Given the description of an element on the screen output the (x, y) to click on. 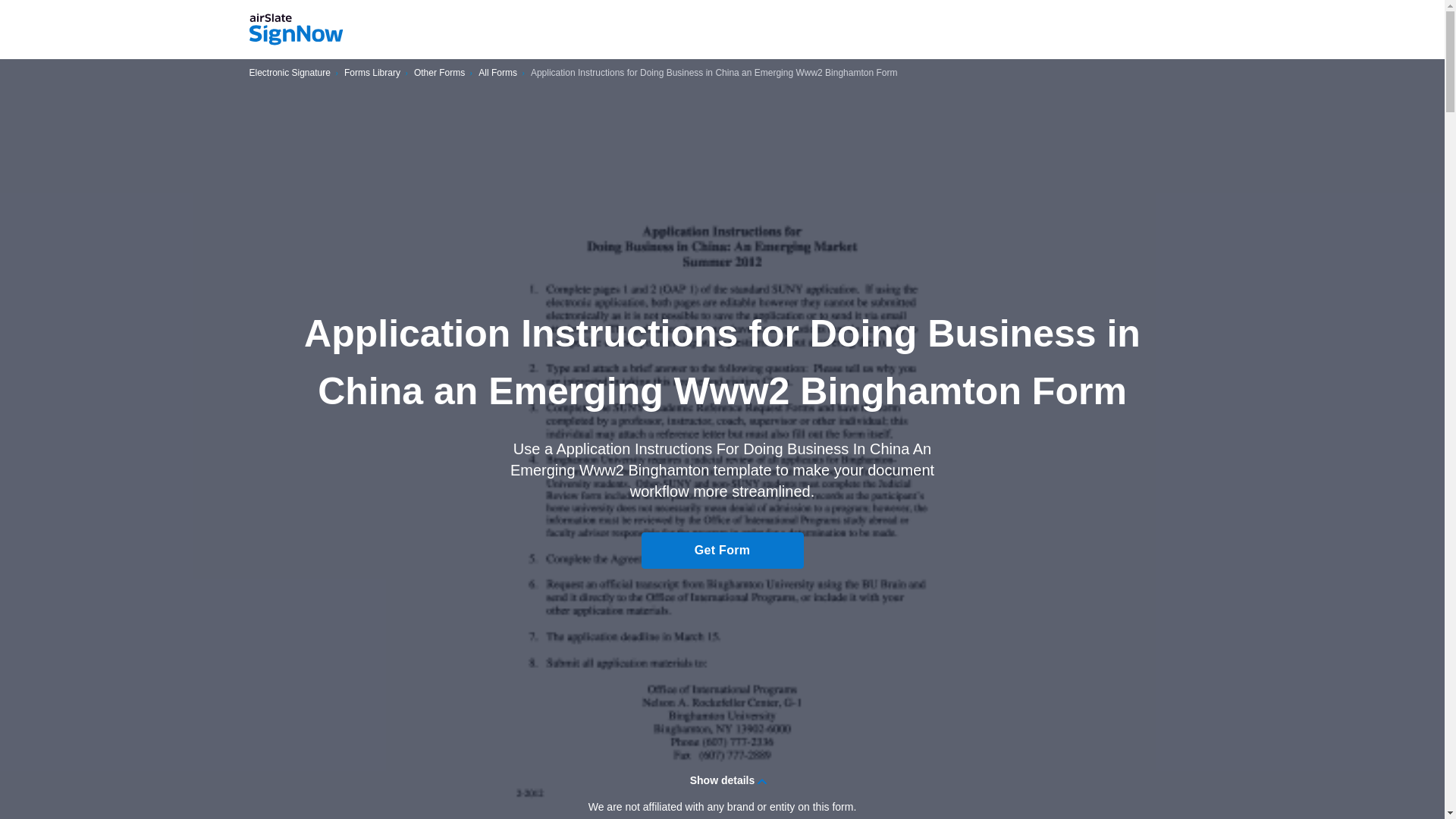
Forms Library (371, 73)
Show details (722, 780)
All Forms (497, 73)
Other Forms (438, 73)
Electronic Signature (289, 73)
signNow (295, 29)
Get Form (722, 550)
